Given the description of an element on the screen output the (x, y) to click on. 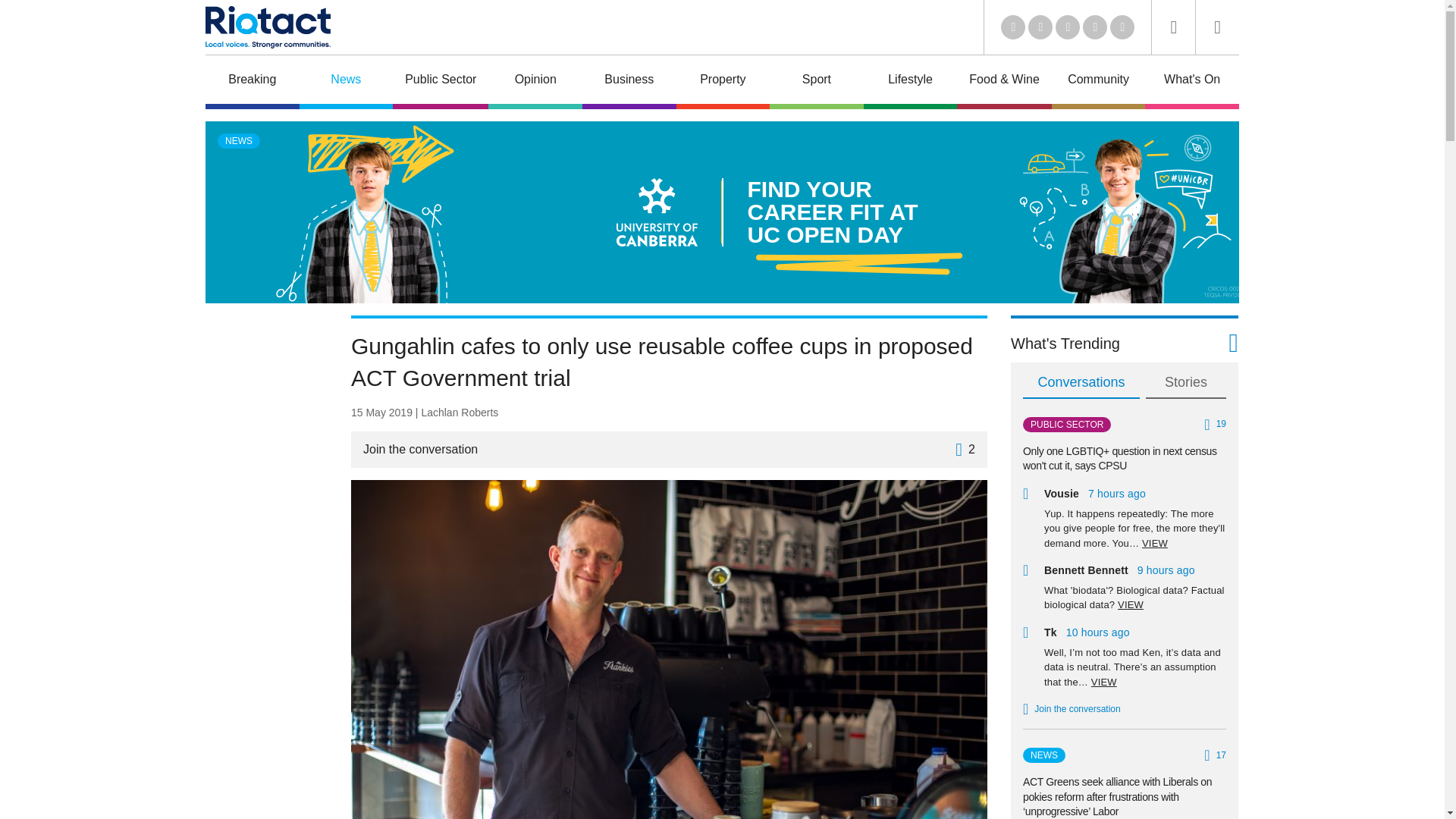
Breaking (252, 81)
Youtube (1067, 27)
Instagram (1121, 27)
Facebook (1094, 27)
Riotact Home (267, 26)
LinkedIn (1013, 27)
Twitter (1039, 27)
News (346, 81)
